Given the description of an element on the screen output the (x, y) to click on. 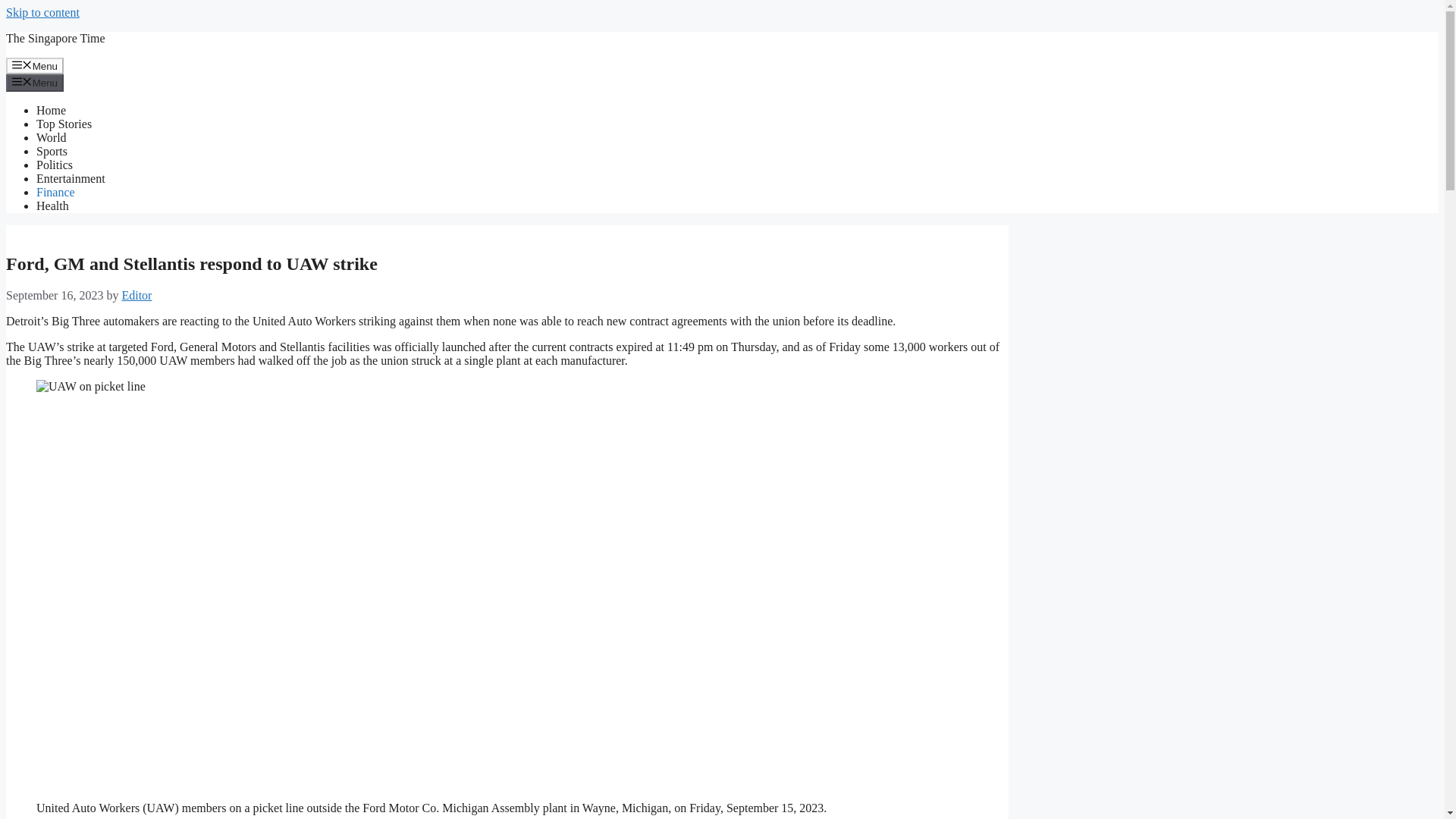
Home (50, 110)
Sports (51, 151)
Skip to content (42, 11)
World (51, 137)
View all posts by Editor (135, 295)
Top Stories (63, 123)
Menu (34, 82)
Health (52, 205)
Entertainment (70, 178)
Menu (34, 65)
Politics (54, 164)
Skip to content (42, 11)
The Singapore Time (54, 38)
Editor (135, 295)
Finance (55, 192)
